Given the description of an element on the screen output the (x, y) to click on. 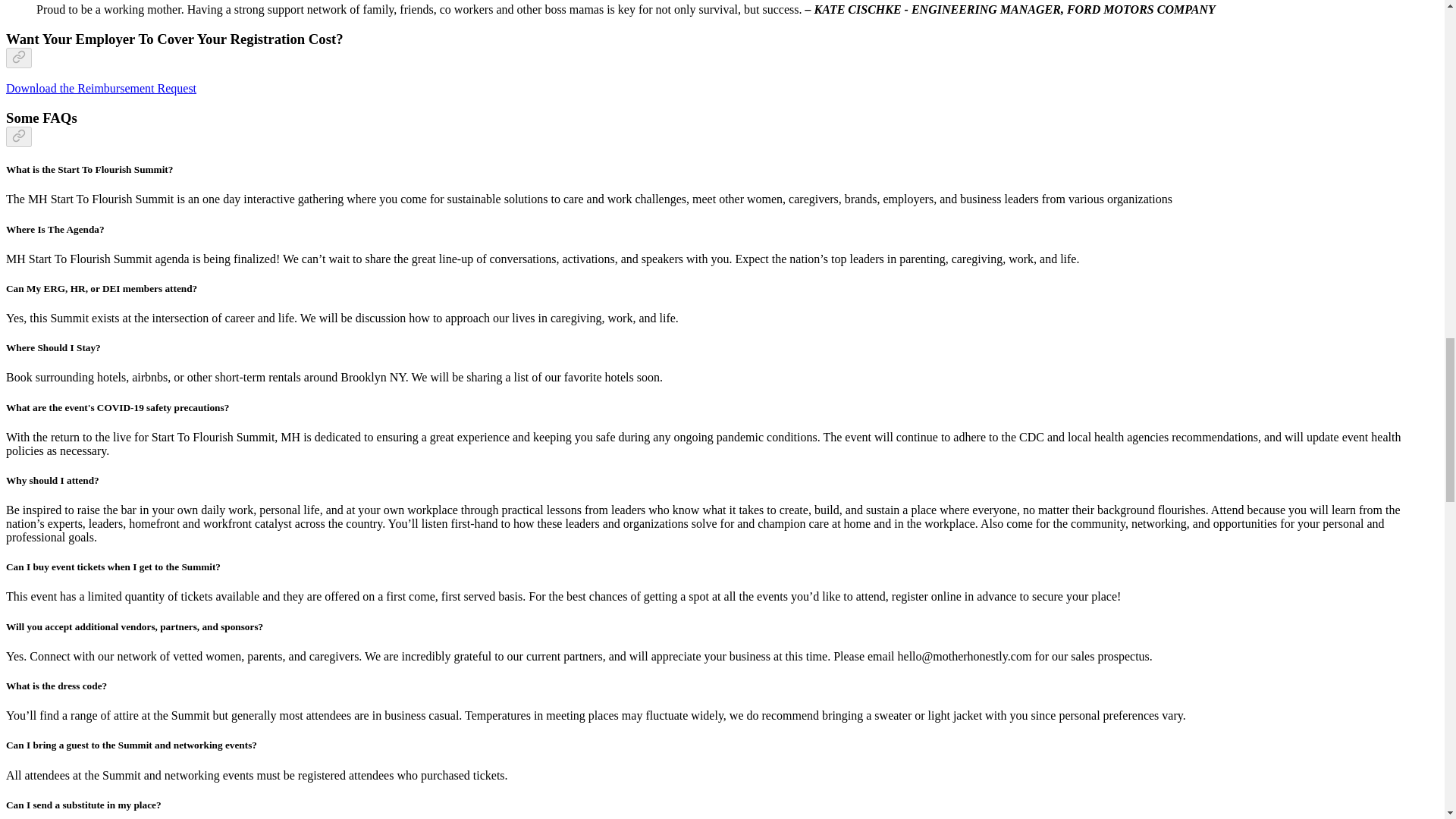
Download the Reimbursement Request (100, 88)
